Given the description of an element on the screen output the (x, y) to click on. 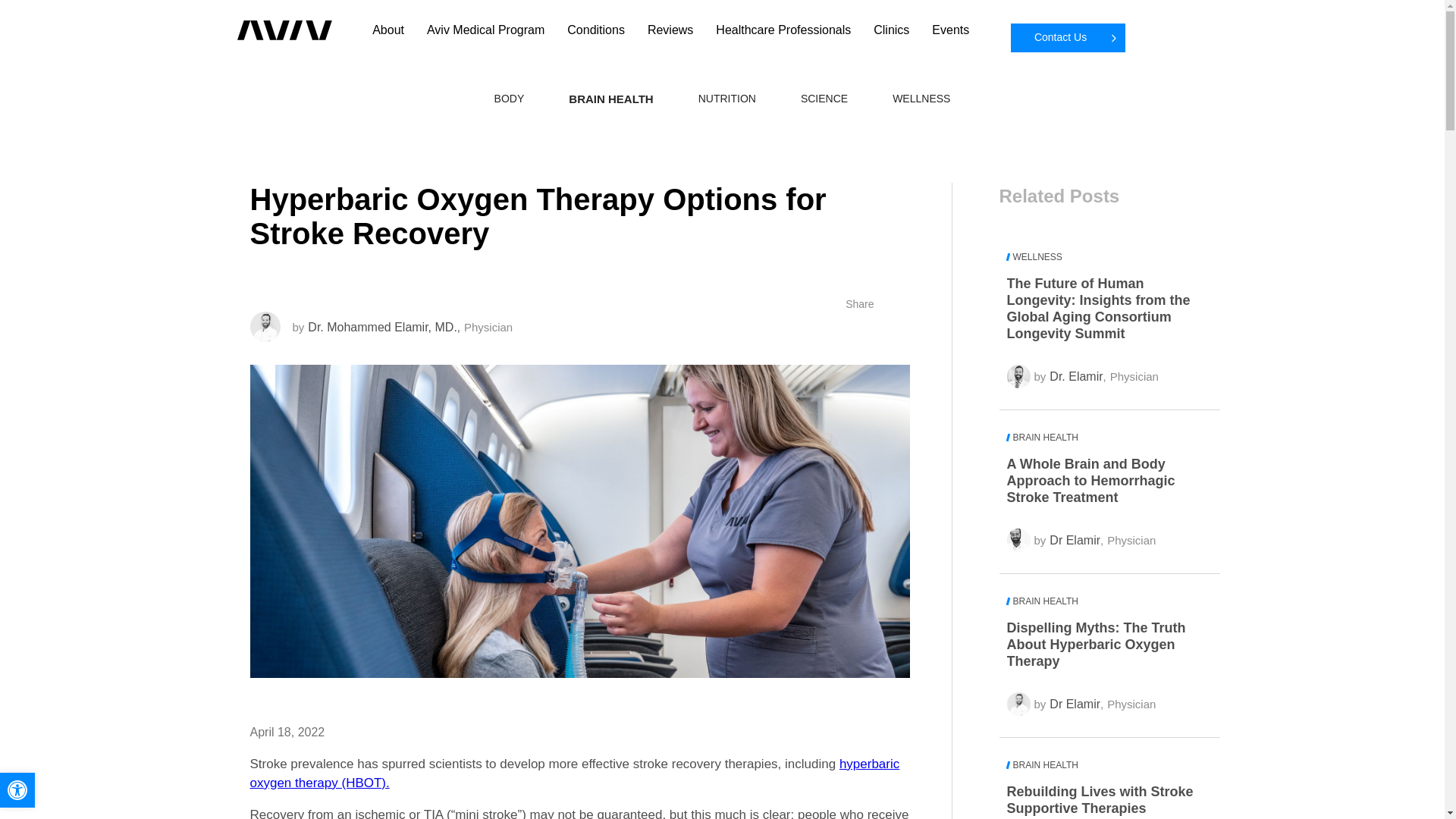
Events (950, 30)
Brain Health (1104, 767)
Science (823, 98)
Dispelling Myths: The Truth About Hyperbaric Oxygen Therapy (1104, 644)
BODY (509, 98)
Brain Health (1104, 604)
Wellness (921, 98)
Conditions (595, 30)
Clinics (890, 30)
Body (509, 98)
Healthcare Professionals (783, 30)
Contact Us (1067, 37)
BRAIN HEALTH (610, 98)
About (388, 30)
